Given the description of an element on the screen output the (x, y) to click on. 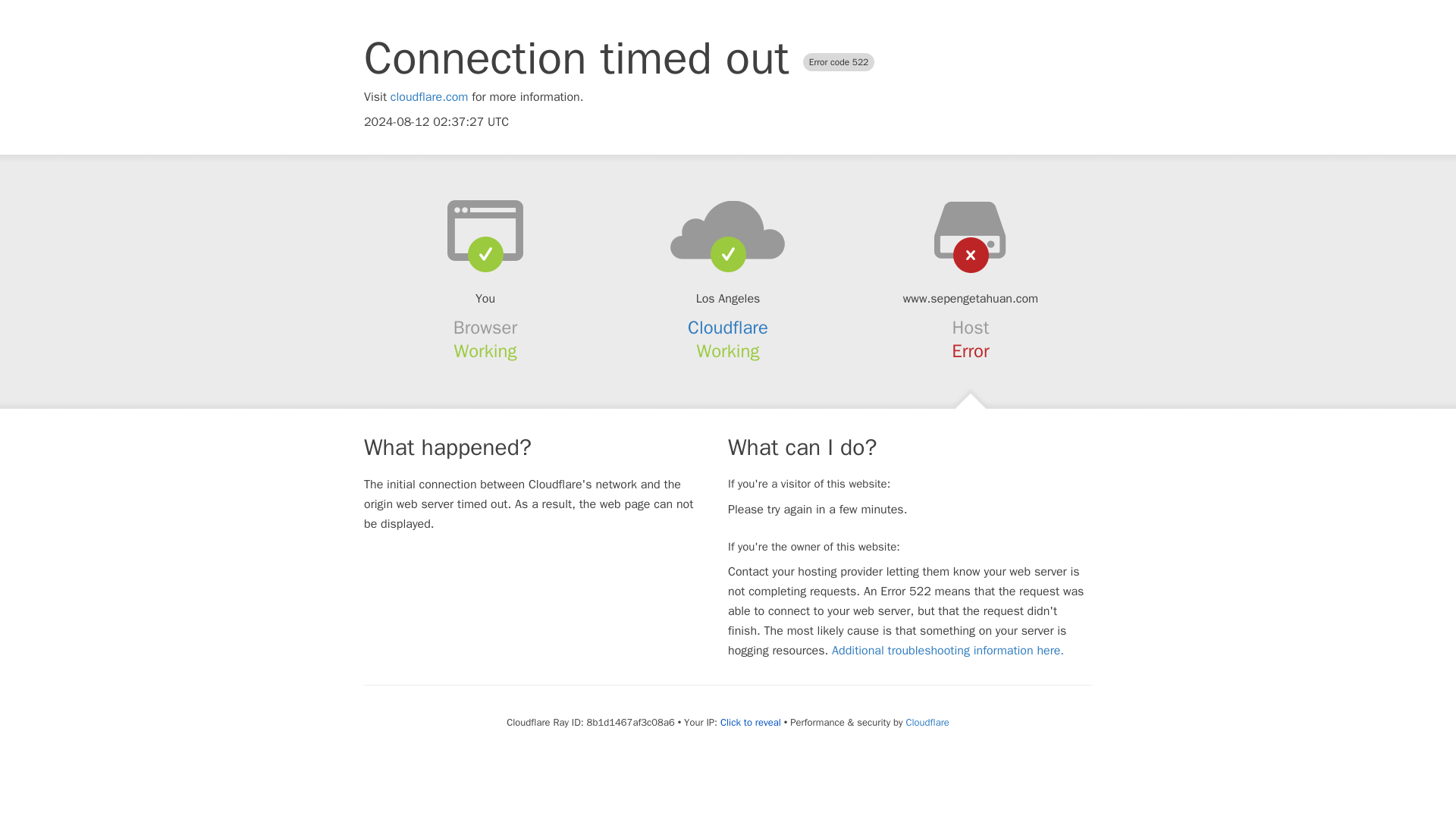
Cloudflare (927, 721)
cloudflare.com (429, 96)
Additional troubleshooting information here. (947, 650)
Click to reveal (750, 722)
Cloudflare (727, 327)
